Given the description of an element on the screen output the (x, y) to click on. 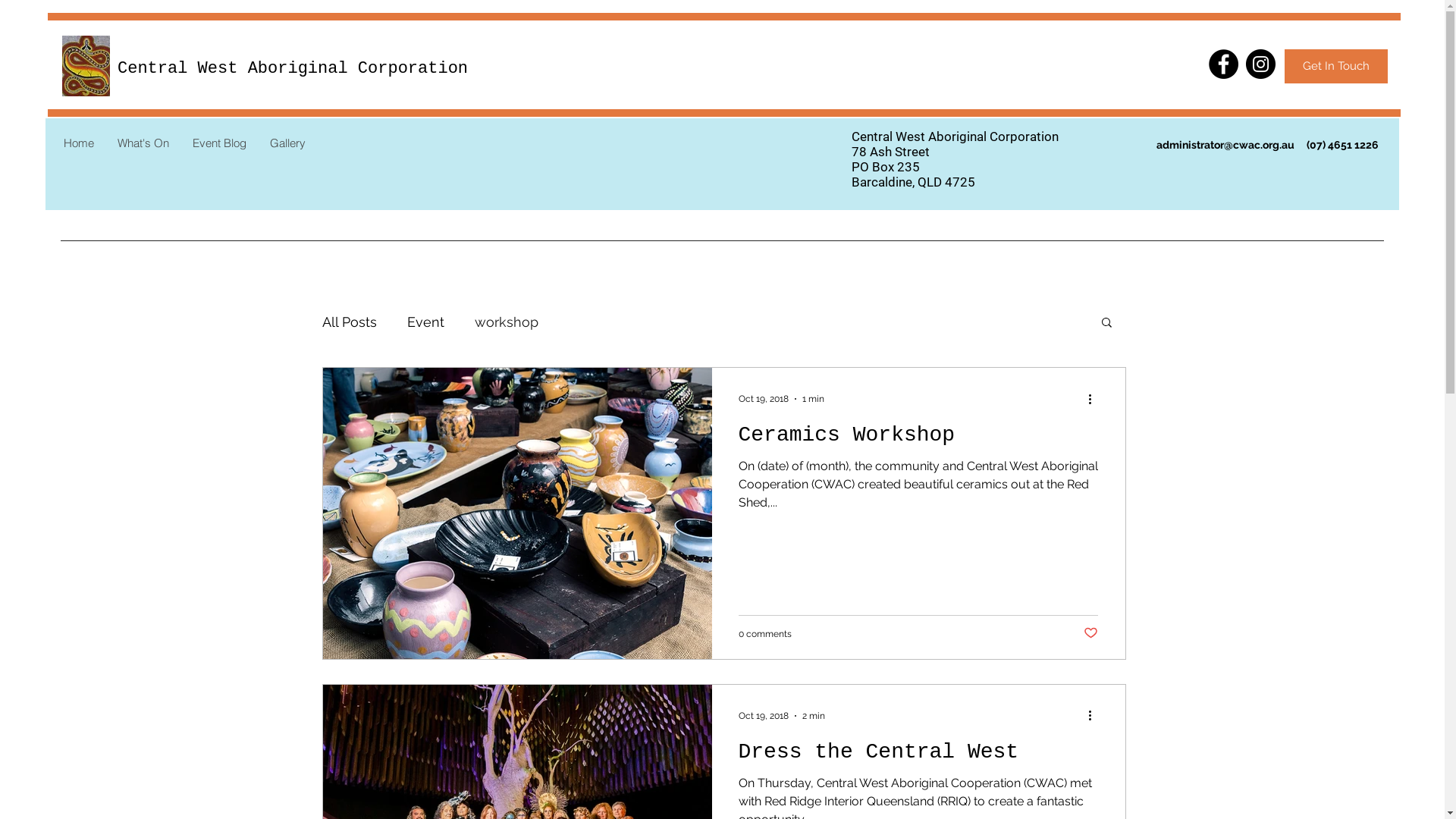
Event Blog Element type: text (218, 142)
Ceramics Workshop Element type: text (918, 438)
All Posts Element type: text (348, 321)
Central West Aboriginal Corporation Element type: text (292, 68)
Gallery Element type: text (286, 142)
Post not marked as liked Element type: text (1089, 633)
Get In Touch Element type: text (1335, 66)
Home Element type: text (78, 142)
workshop Element type: text (506, 321)
0 comments Element type: text (764, 633)
What's On Element type: text (142, 142)
Event Element type: text (424, 321)
administrator@cwac.org.au Element type: text (1225, 144)
Dress the Central West Element type: text (918, 755)
